Given the description of an element on the screen output the (x, y) to click on. 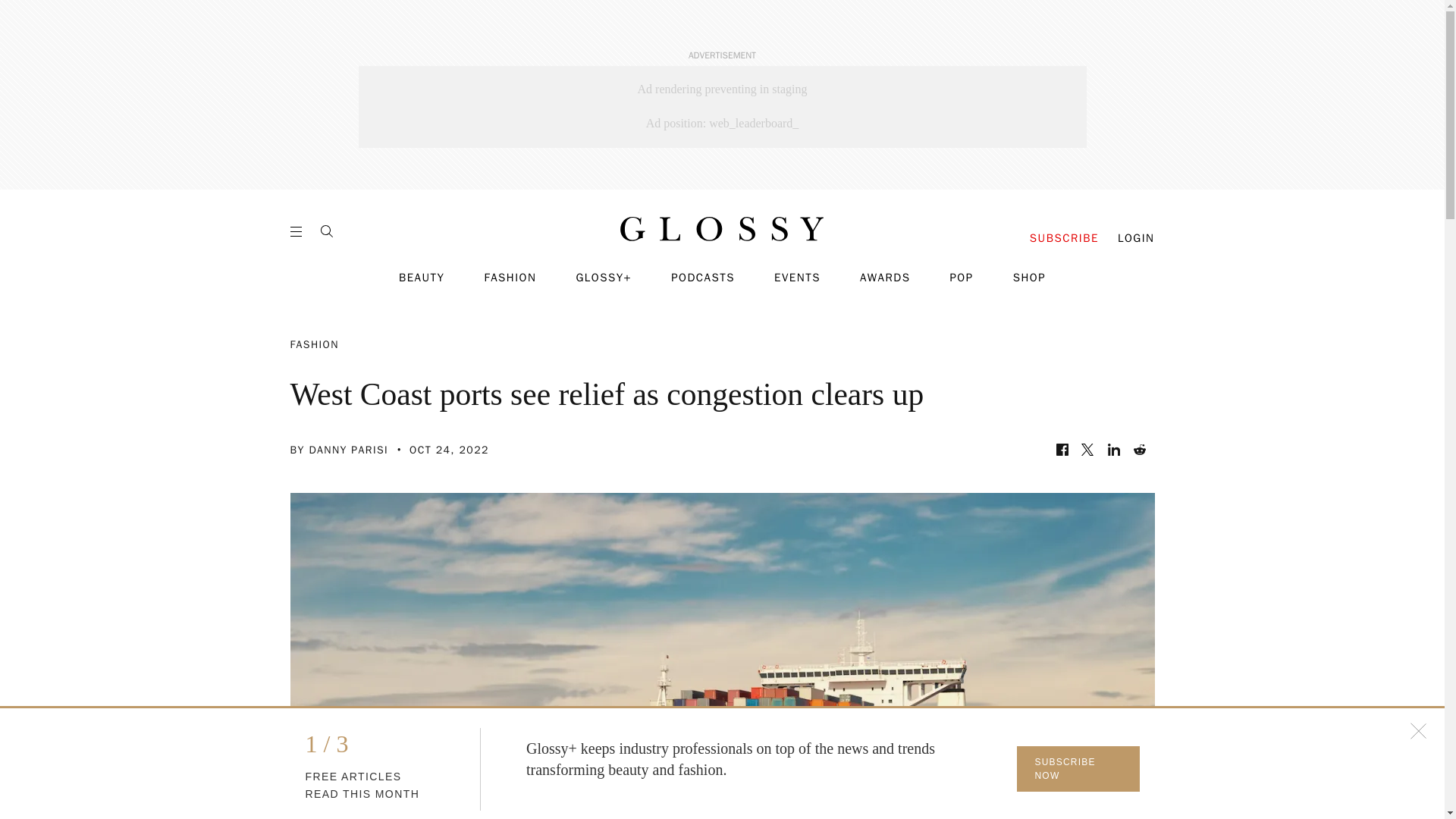
AWARDS (885, 277)
SUBSCRIBE (1064, 238)
POP (960, 277)
FASHION (509, 277)
BEAUTY (421, 277)
LOGIN (1136, 238)
EVENTS (797, 277)
SHOP (1029, 277)
PODCASTS (703, 277)
